Given the description of an element on the screen output the (x, y) to click on. 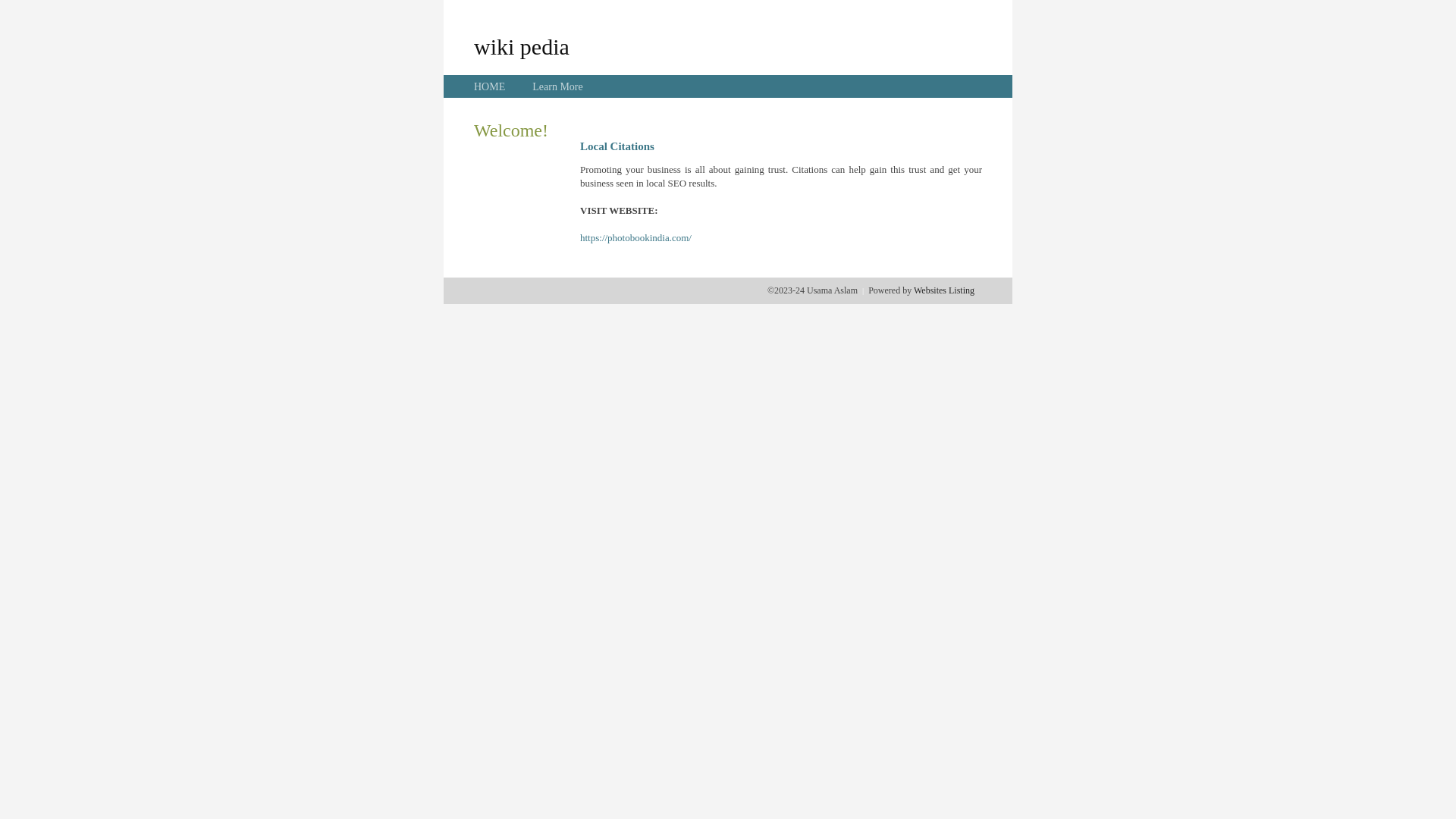
Websites Listing Element type: text (943, 290)
https://photobookindia.com/ Element type: text (635, 237)
Learn More Element type: text (557, 86)
wiki pedia Element type: text (521, 46)
HOME Element type: text (489, 86)
